Given the description of an element on the screen output the (x, y) to click on. 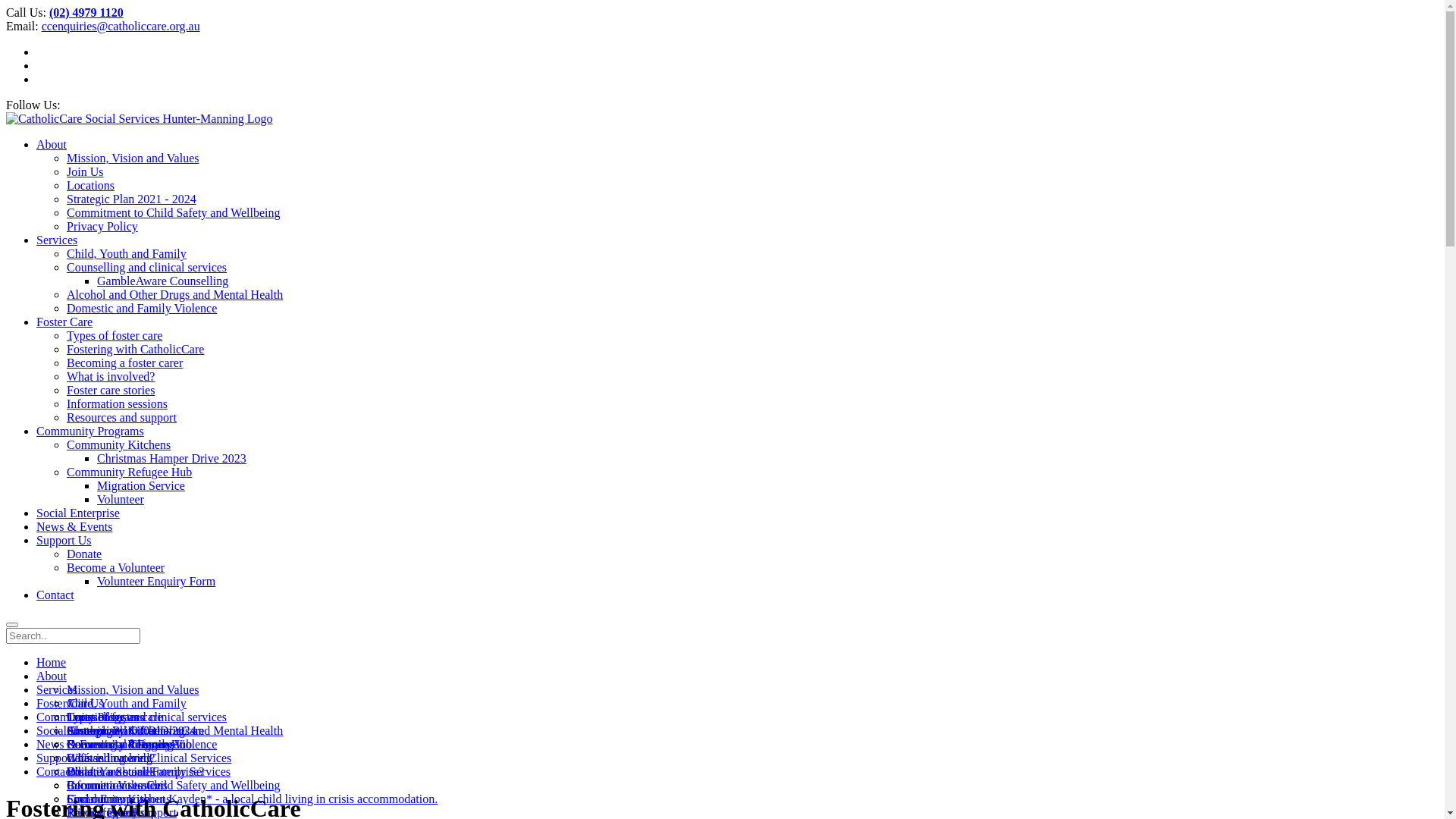
Foster care stories Element type: text (110, 771)
Community Refugee Hub Element type: text (128, 471)
Become a Volunteer Element type: text (115, 784)
Locations Element type: text (90, 716)
Volunteer Element type: text (120, 498)
Donate Element type: text (83, 771)
Social Enterprise Element type: text (108, 798)
Home Element type: text (50, 661)
Social Enterprise Element type: text (77, 730)
Privacy Policy Element type: text (102, 225)
Commercial Cleaning Element type: text (119, 743)
Mission, Vision and Values Element type: text (132, 157)
What is involved? Element type: text (110, 757)
What is involved? Element type: text (110, 376)
Information sessions Element type: text (116, 784)
Join Us Element type: text (84, 702)
Foster care stories Element type: text (110, 389)
Join Us Element type: text (84, 171)
Alcohol and Other Drugs and Mental Health Element type: text (174, 730)
Types of foster care Element type: text (114, 716)
Strategic Plan 2021 - 2024 Element type: text (131, 198)
Resources and support Element type: text (121, 417)
About Element type: text (51, 675)
Locations Element type: text (90, 184)
Commitment to Child Safety and Wellbeing Element type: text (173, 212)
News & Events Element type: text (74, 743)
Types of foster care Element type: text (114, 335)
Community Kitchens Element type: text (118, 444)
About Element type: text (51, 144)
Community Programs Element type: text (120, 743)
Counselling and clinical services Element type: text (146, 716)
Volunteer Enquiry Form Element type: text (156, 580)
Alcohol and Other Drugs and Mental Health Element type: text (174, 294)
Community Refugee Hub Element type: text (128, 743)
Contact Element type: text (55, 771)
Mission, Vision and Values Element type: text (132, 689)
Child, Youth and Family Services Element type: text (148, 771)
GambleAware Counselling Element type: text (162, 280)
News & Events Element type: text (74, 526)
Community Kitchens Element type: text (118, 730)
What is a Social Enterprise? Element type: text (134, 771)
Domestic and Family Violence Element type: text (141, 743)
Community Programs Element type: text (90, 716)
Counselling and Clinical Services Element type: text (148, 757)
Becoming a foster carer Element type: text (124, 743)
Child, Youth and Family Element type: text (126, 702)
Community Programs Element type: text (90, 430)
Foster Care Element type: text (64, 702)
Support Us Element type: text (63, 539)
Donate Element type: text (83, 553)
Becoming a foster carer Element type: text (124, 362)
Services Element type: text (56, 239)
Counselling and clinical services Element type: text (146, 266)
Fostering with CatholicCare Element type: text (134, 348)
Foster Care Element type: text (64, 321)
Social Enterprise Element type: text (77, 512)
Support Us Element type: text (63, 757)
Commitment to Child Safety and Wellbeing Element type: text (173, 784)
Community Kitchens Element type: text (118, 798)
Strategic Plan 2021 - 2024 Element type: text (131, 730)
Child, Youth and Family Element type: text (126, 253)
Information sessions Element type: text (116, 403)
Migration Service Element type: text (141, 485)
Christmas Hamper Drive 2023 Element type: text (171, 457)
(02) 4979 1120 Element type: text (86, 12)
Domestic and Family Violence Element type: text (141, 307)
Services Element type: text (56, 689)
Fostering with CatholicCare Element type: text (134, 730)
Contact Element type: text (55, 594)
Become a Volunteer Element type: text (115, 567)
ccenquiries@catholiccare.org.au Element type: text (120, 25)
